Given the description of an element on the screen output the (x, y) to click on. 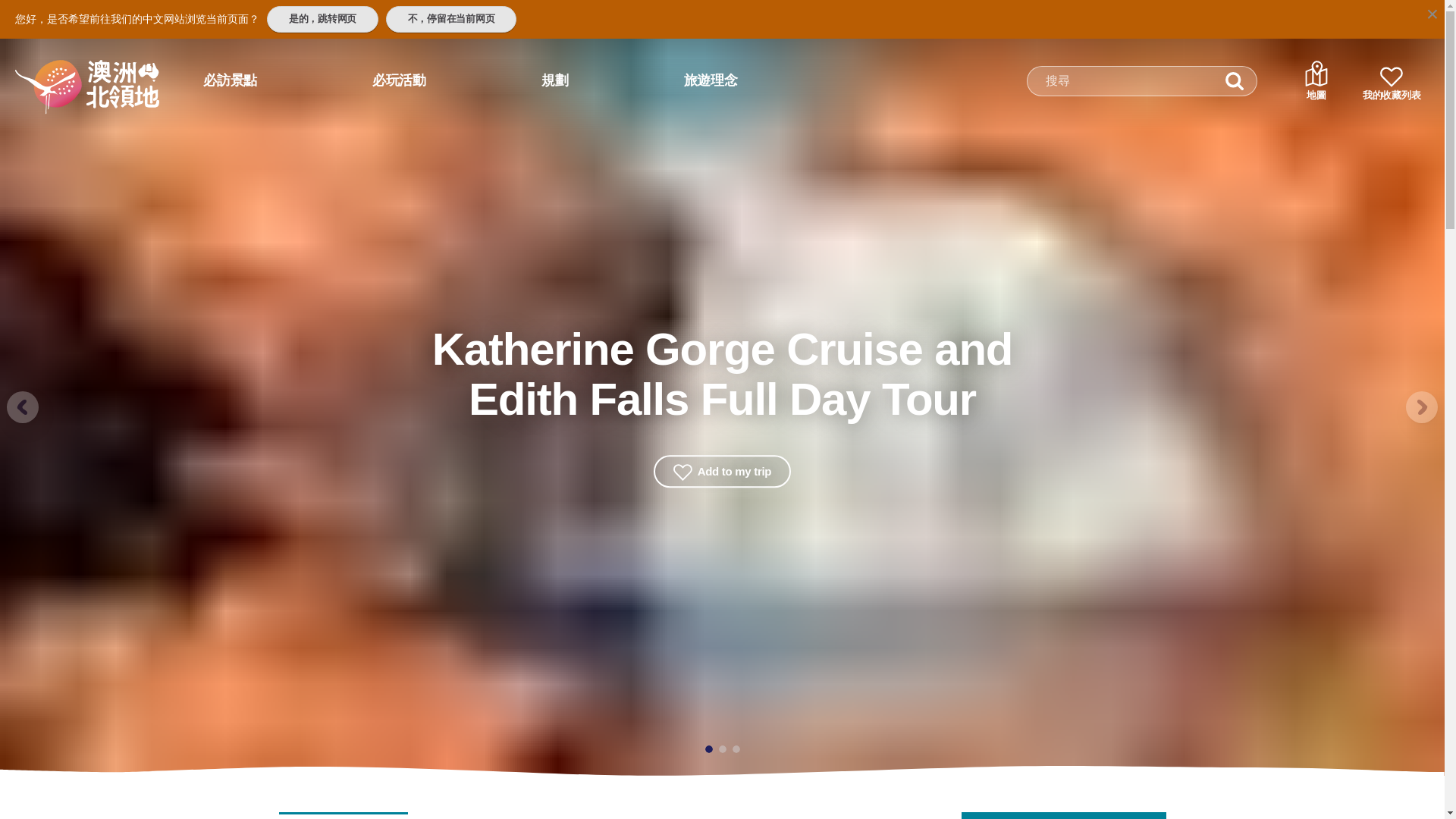
Home (67, 73)
